Given the description of an element on the screen output the (x, y) to click on. 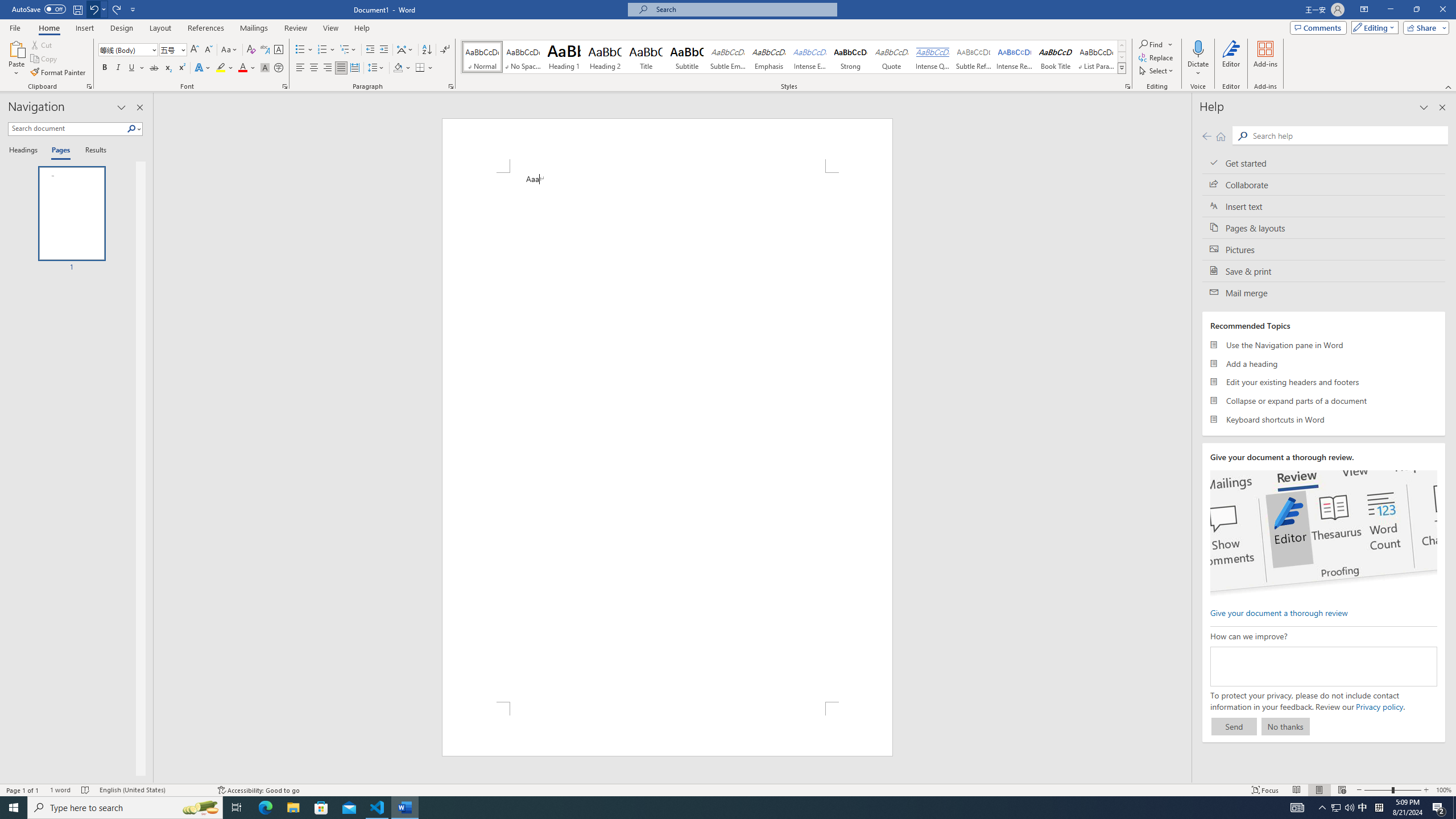
Subtle Emphasis (727, 56)
Pages & layouts (1323, 228)
Focus  (1265, 790)
Search (131, 128)
Office Clipboard... (88, 85)
Accessibility Checker Accessibility: Good to go (258, 790)
Redo Apply Quick Style (117, 9)
Read Mode (1296, 790)
Text Effects and Typography (202, 67)
Replace... (1156, 56)
Clear Formatting (250, 49)
Get started (1323, 162)
Insert text (1323, 206)
Find (1151, 44)
View (330, 28)
